Given the description of an element on the screen output the (x, y) to click on. 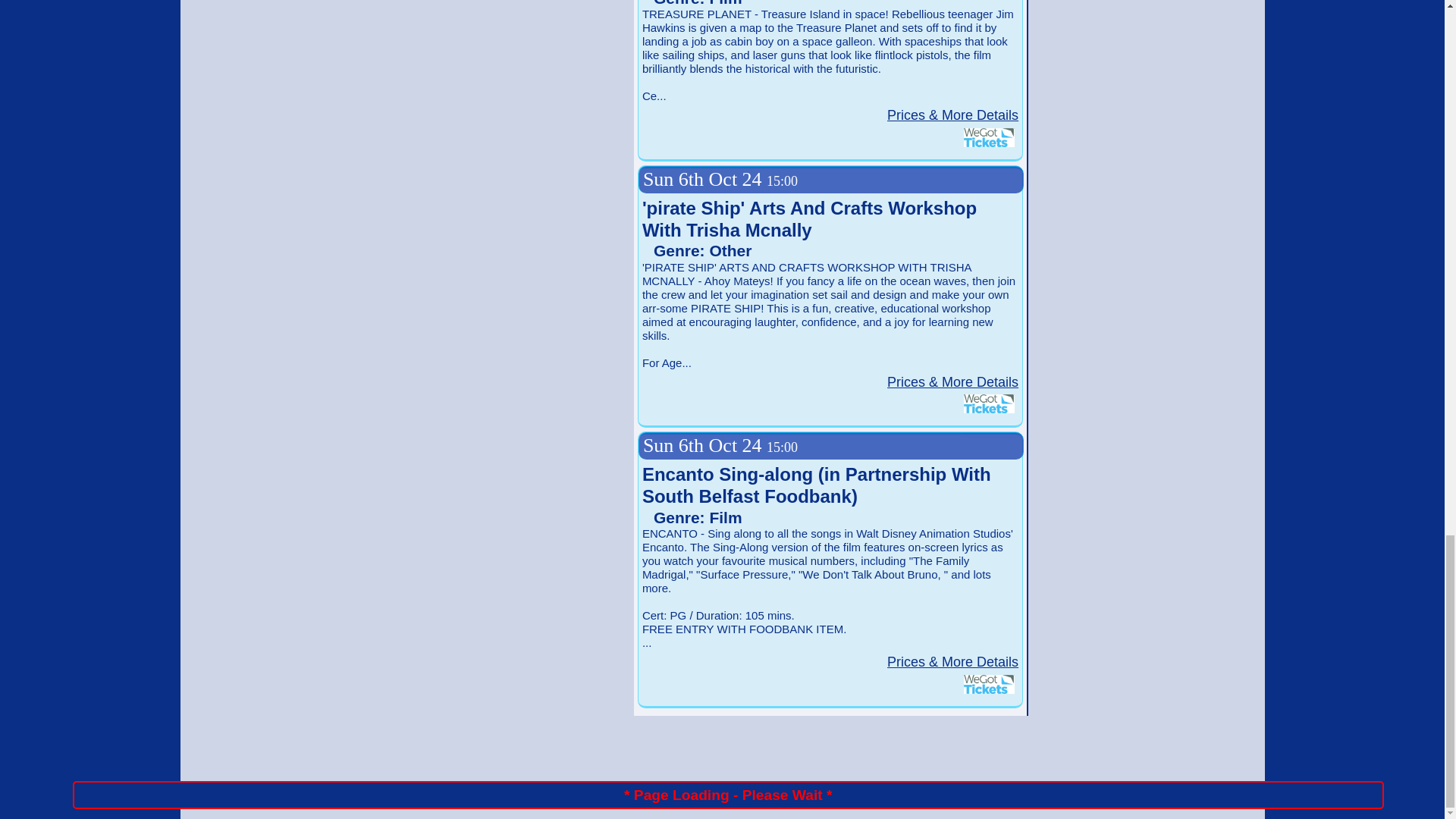
Click for more details about this gig (951, 381)
Click for more details about this gig (951, 661)
Click for more details about this gig (951, 114)
